Given the description of an element on the screen output the (x, y) to click on. 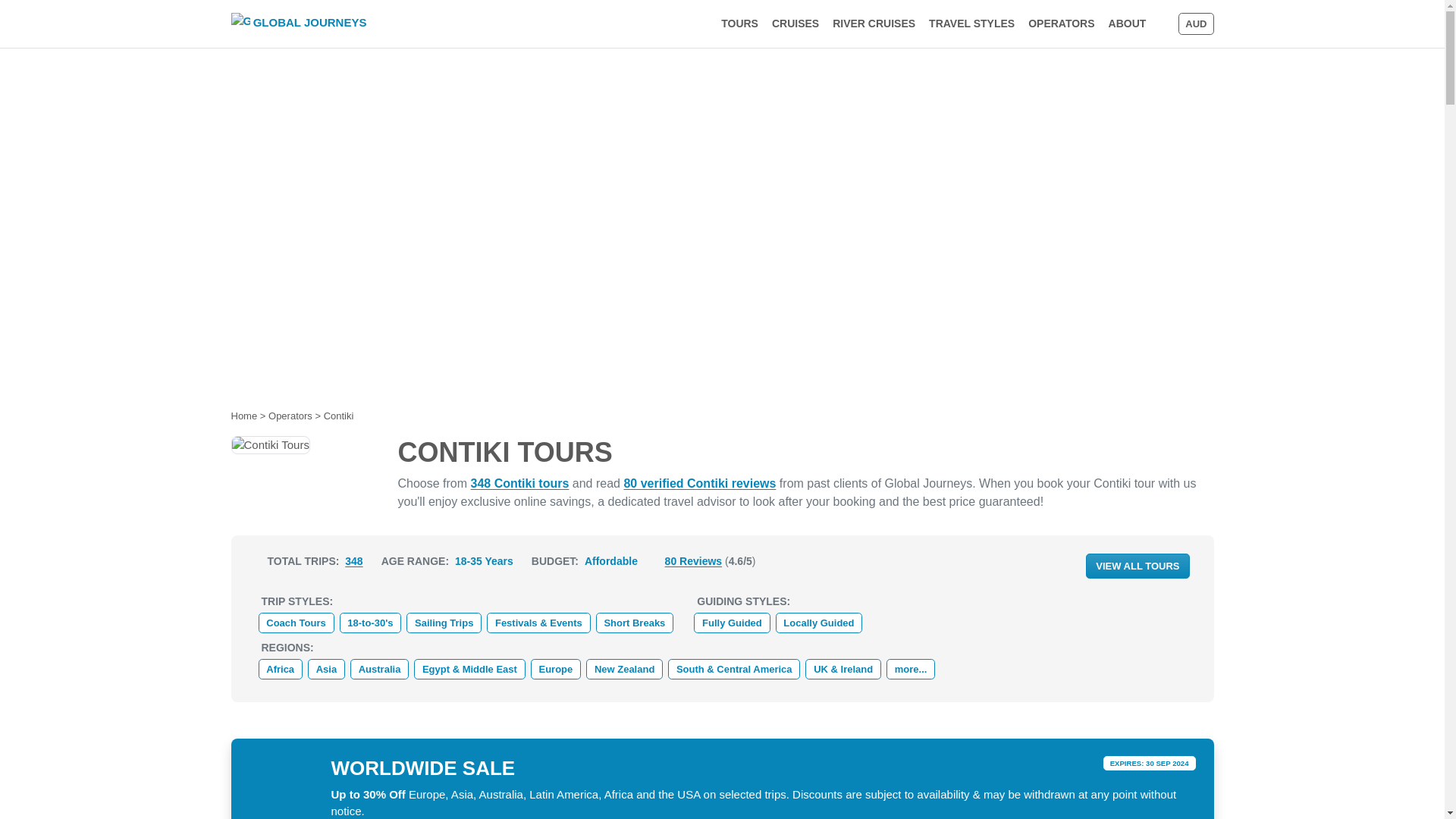
Home (243, 415)
ABOUT (1127, 23)
TOURS (739, 23)
Europe (555, 669)
OPERATORS (1061, 23)
348 Contiki tours (945, 23)
GLOBAL JOURNEYS (519, 482)
80 verified Contiki reviews (298, 23)
348 (699, 482)
